Given the description of an element on the screen output the (x, y) to click on. 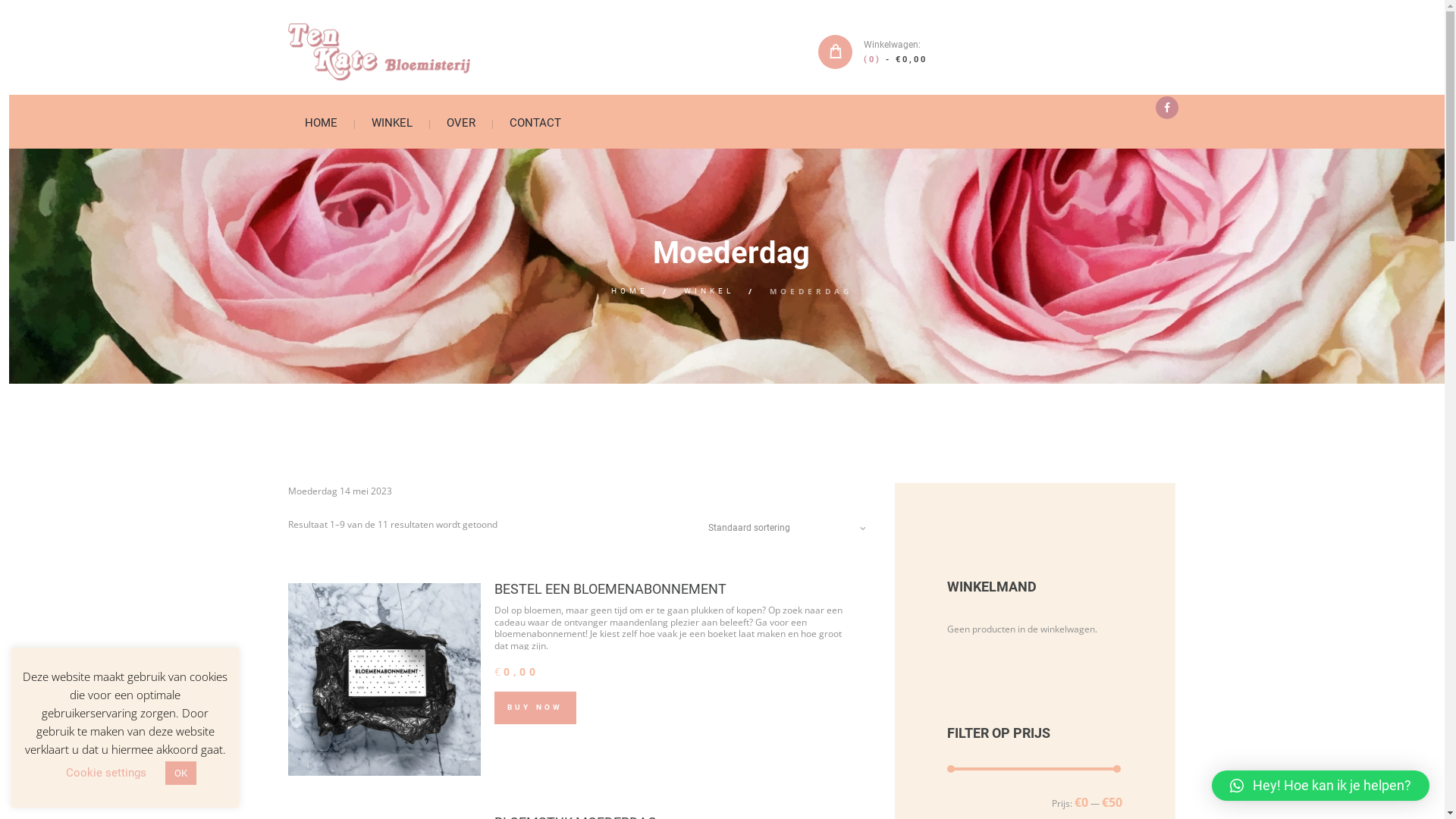
Cookie settings Element type: text (105, 772)
BUY NOW Element type: text (535, 707)
CONTACT Element type: text (535, 121)
HOME Element type: text (321, 121)
OK Element type: text (180, 772)
BESTEL EEN BLOEMENABONNEMENT Element type: text (610, 588)
WINKEL Element type: text (391, 121)
HOME Element type: text (629, 290)
Hey! Hoe kan ik je helpen? Element type: text (1320, 785)
OVER Element type: text (460, 121)
WINKEL Element type: text (709, 290)
